Given the description of an element on the screen output the (x, y) to click on. 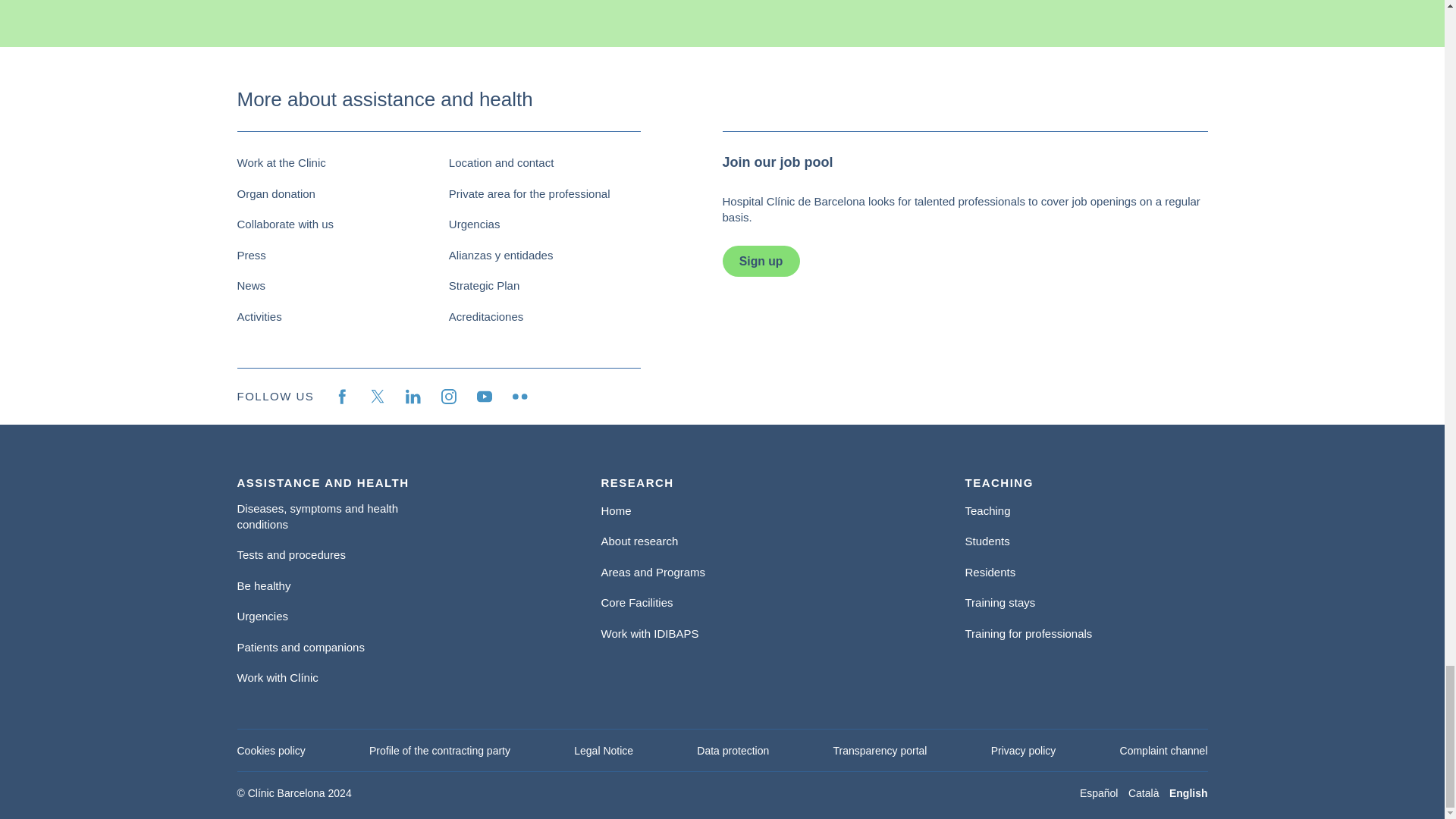
Follow us on instagram (449, 396)
Follow us on facebook (341, 396)
Follow us on youtube (484, 396)
Follow us on twitter (377, 396)
Follow us on linkedin (413, 396)
